Given the description of an element on the screen output the (x, y) to click on. 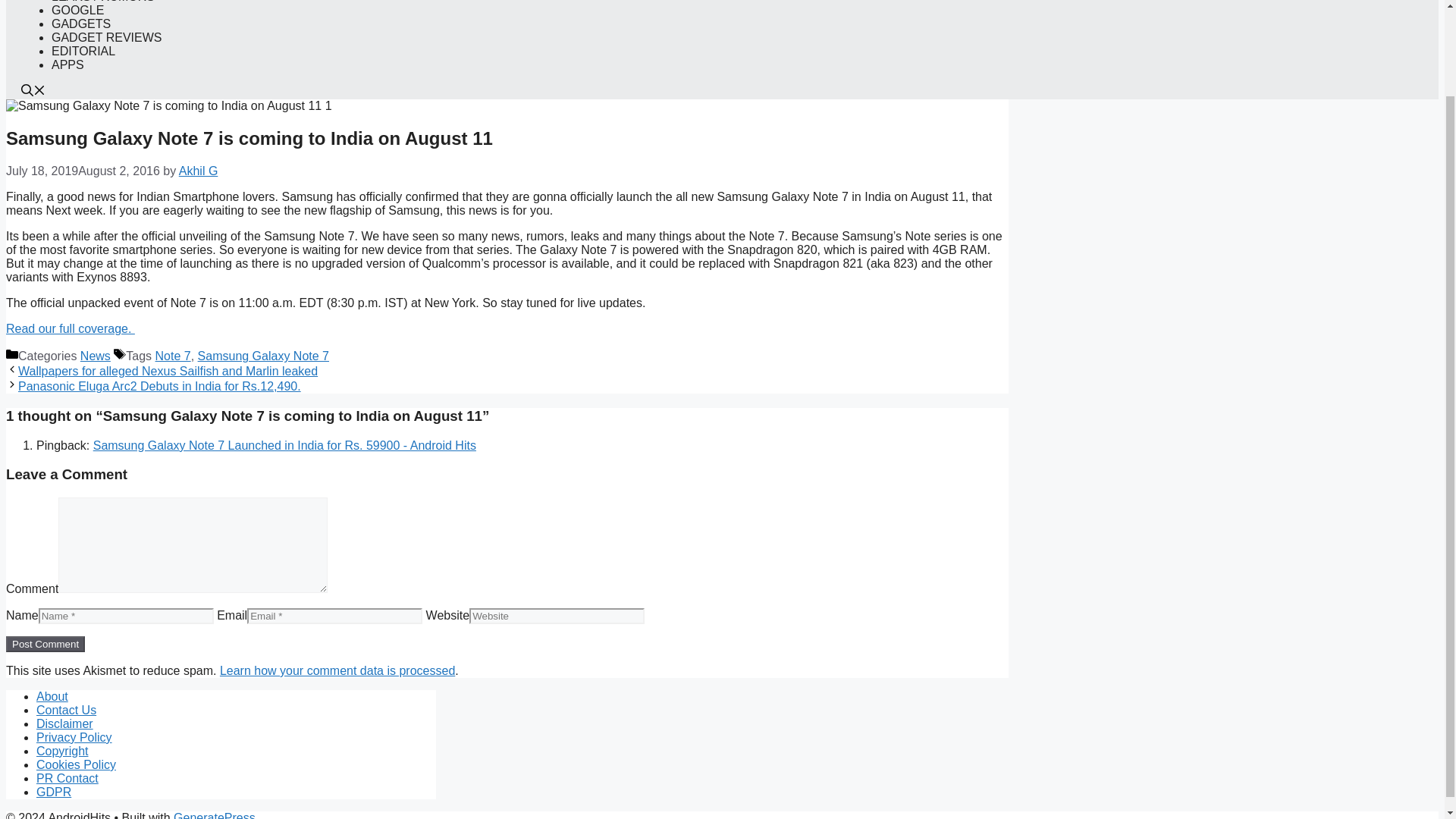
Cookies Policy (76, 764)
Samsung Galaxy Note 7 is coming to India on August 11 1 (168, 106)
Contact Us (66, 709)
PR Contact (67, 778)
Privacy Policy (74, 737)
Read our full coverage.  (70, 328)
GDPR (53, 791)
Post Comment (44, 643)
Wallpapers for alleged Nexus Sailfish and Marlin leaked (167, 370)
